Given the description of an element on the screen output the (x, y) to click on. 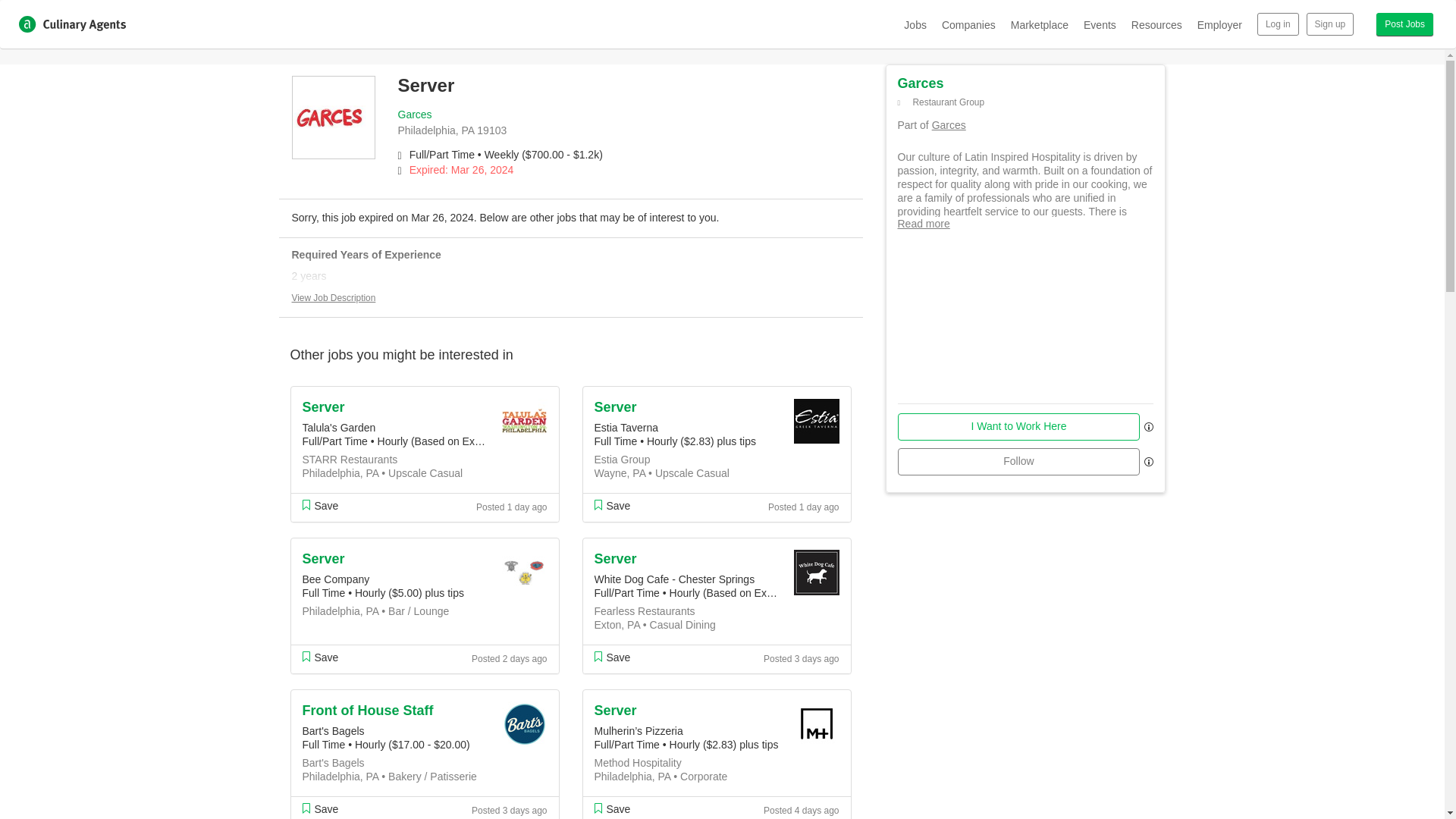
Sign up (1330, 24)
Save (319, 505)
Employer (1218, 24)
Save (612, 505)
Post Jobs (1403, 24)
Save (319, 657)
Log in (1277, 24)
Save (612, 808)
Save (319, 808)
Save (612, 657)
Companies (968, 24)
Marketplace (1039, 24)
Garces (413, 114)
Resources (1156, 24)
